Given the description of an element on the screen output the (x, y) to click on. 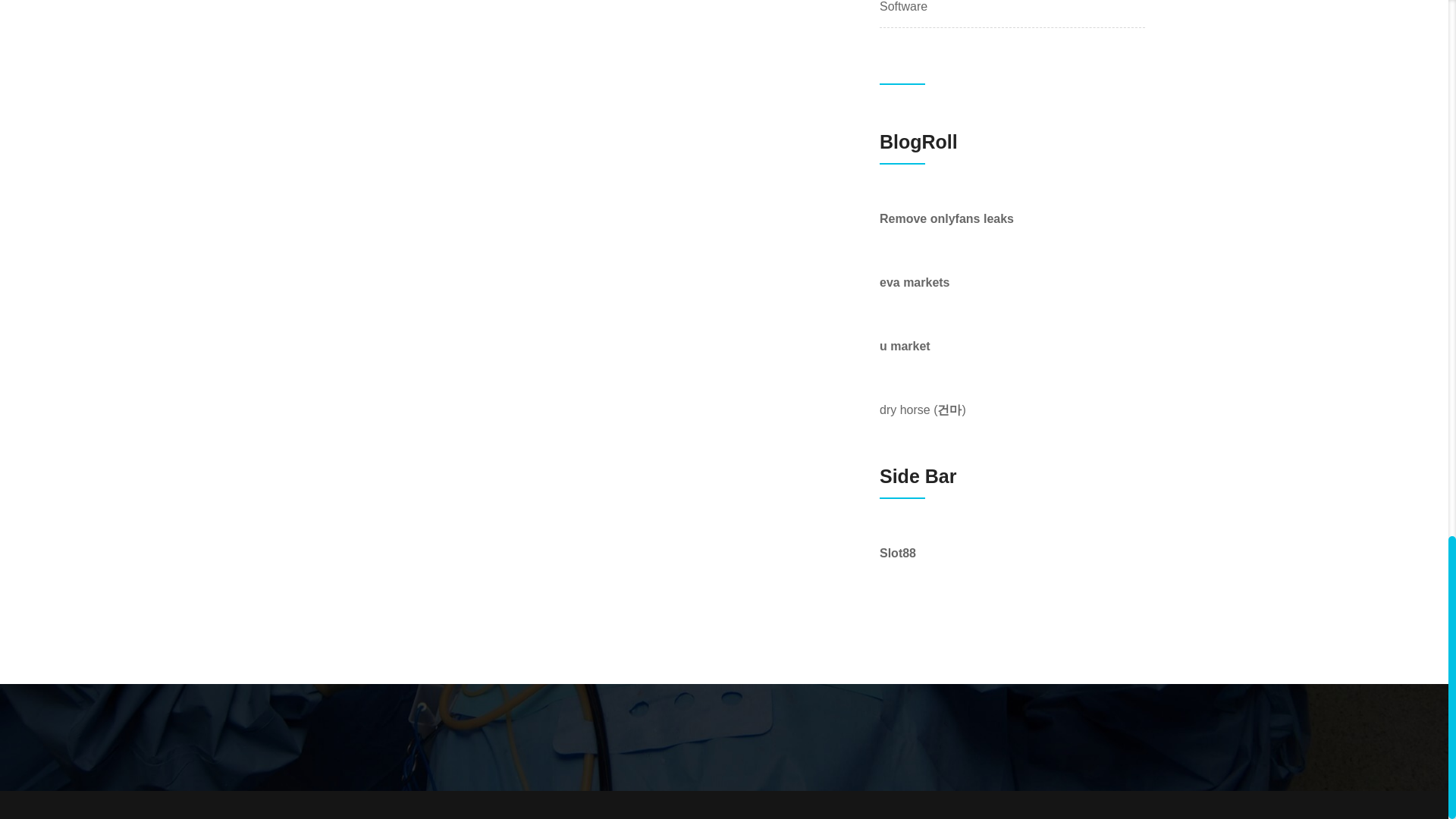
eva markets (914, 282)
u market (904, 345)
Remove onlyfans leaks (946, 218)
Slot88 (897, 553)
Software (903, 7)
